Given the description of an element on the screen output the (x, y) to click on. 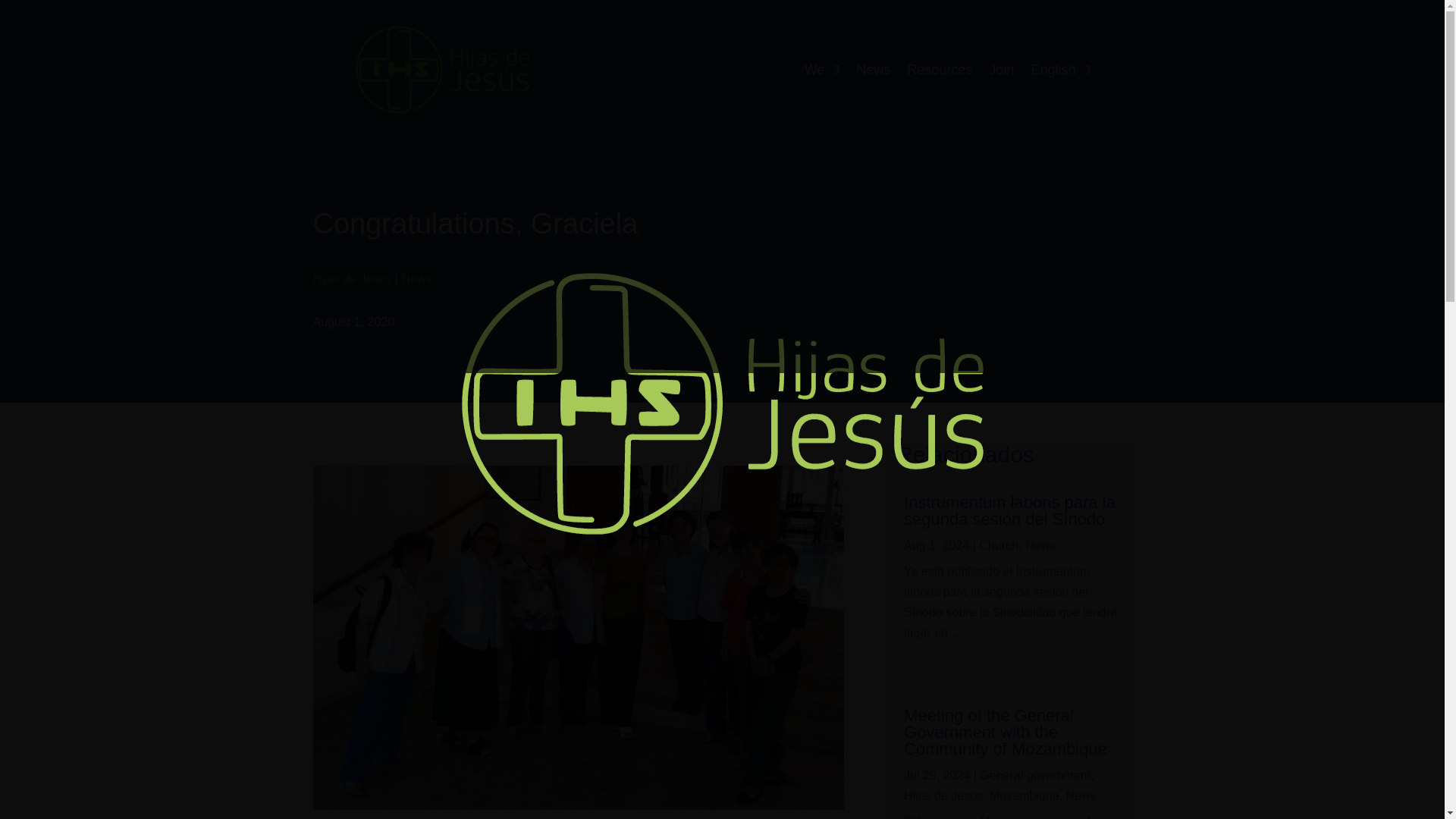
News (1080, 795)
News (1040, 545)
Church (997, 545)
Mozambique (1024, 795)
General government (1034, 775)
News (416, 278)
